Given the description of an element on the screen output the (x, y) to click on. 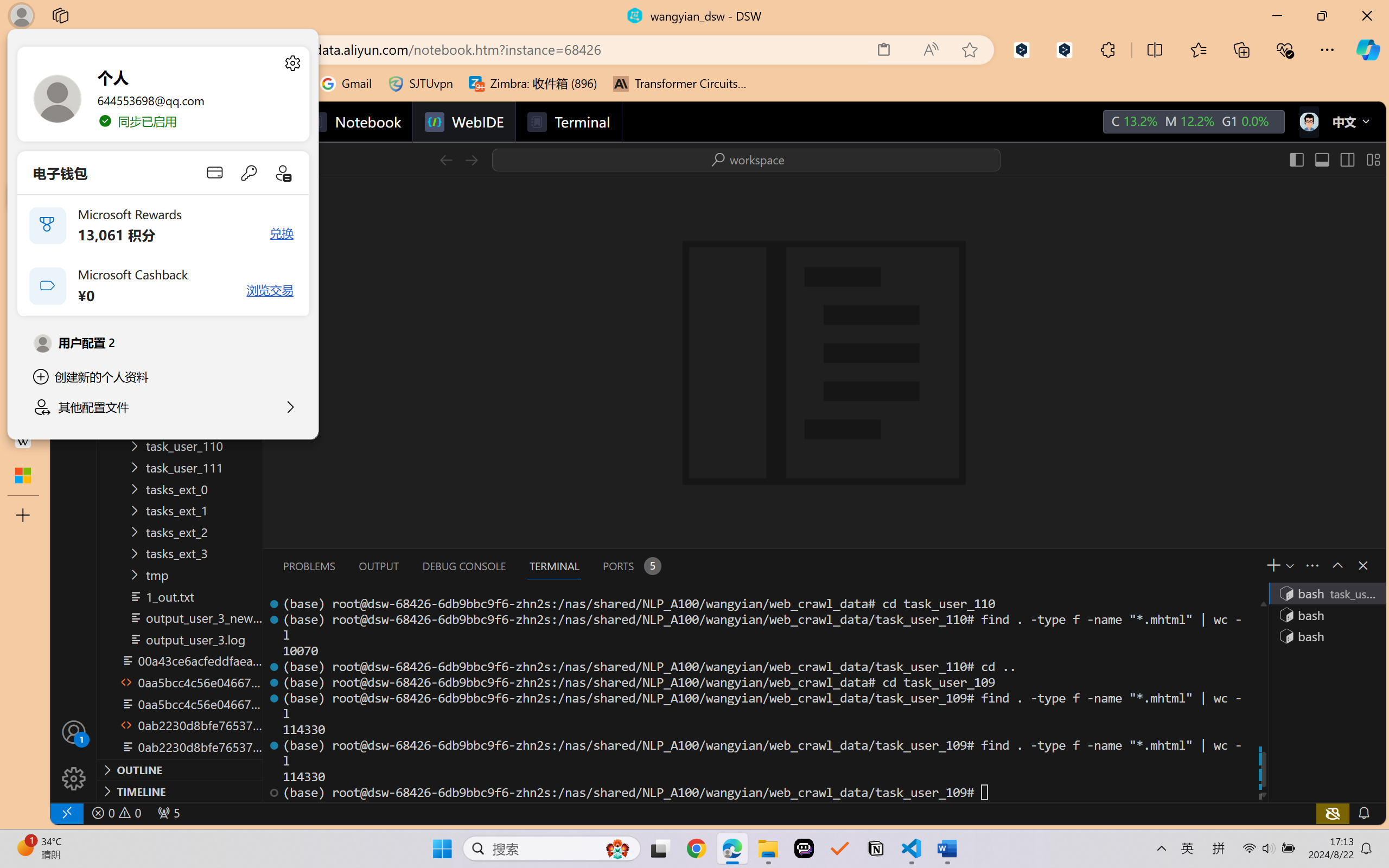
Forwarded Ports: 36301, 47065, 38781, 45817, 50331 (167, 812)
remote (66, 812)
Terminal (568, 121)
Customize Layout... (1372, 159)
Launch Profile... (1288, 565)
Accounts - Sign in requested (73, 732)
Class: xterm-link-layer (761, 697)
